Given the description of an element on the screen output the (x, y) to click on. 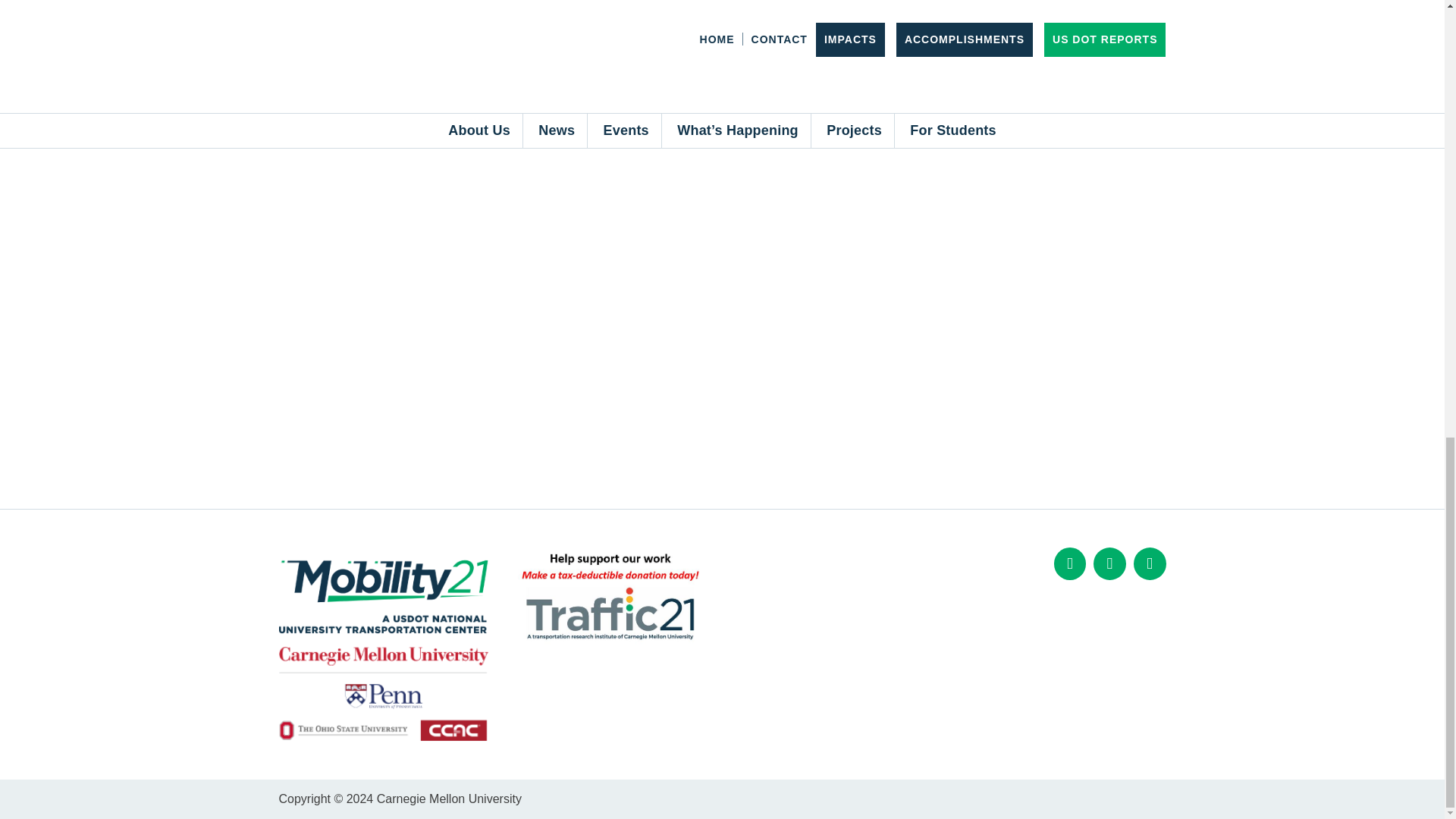
Twitter (1109, 563)
Facebook (1070, 563)
YouTube (1150, 563)
